Given the description of an element on the screen output the (x, y) to click on. 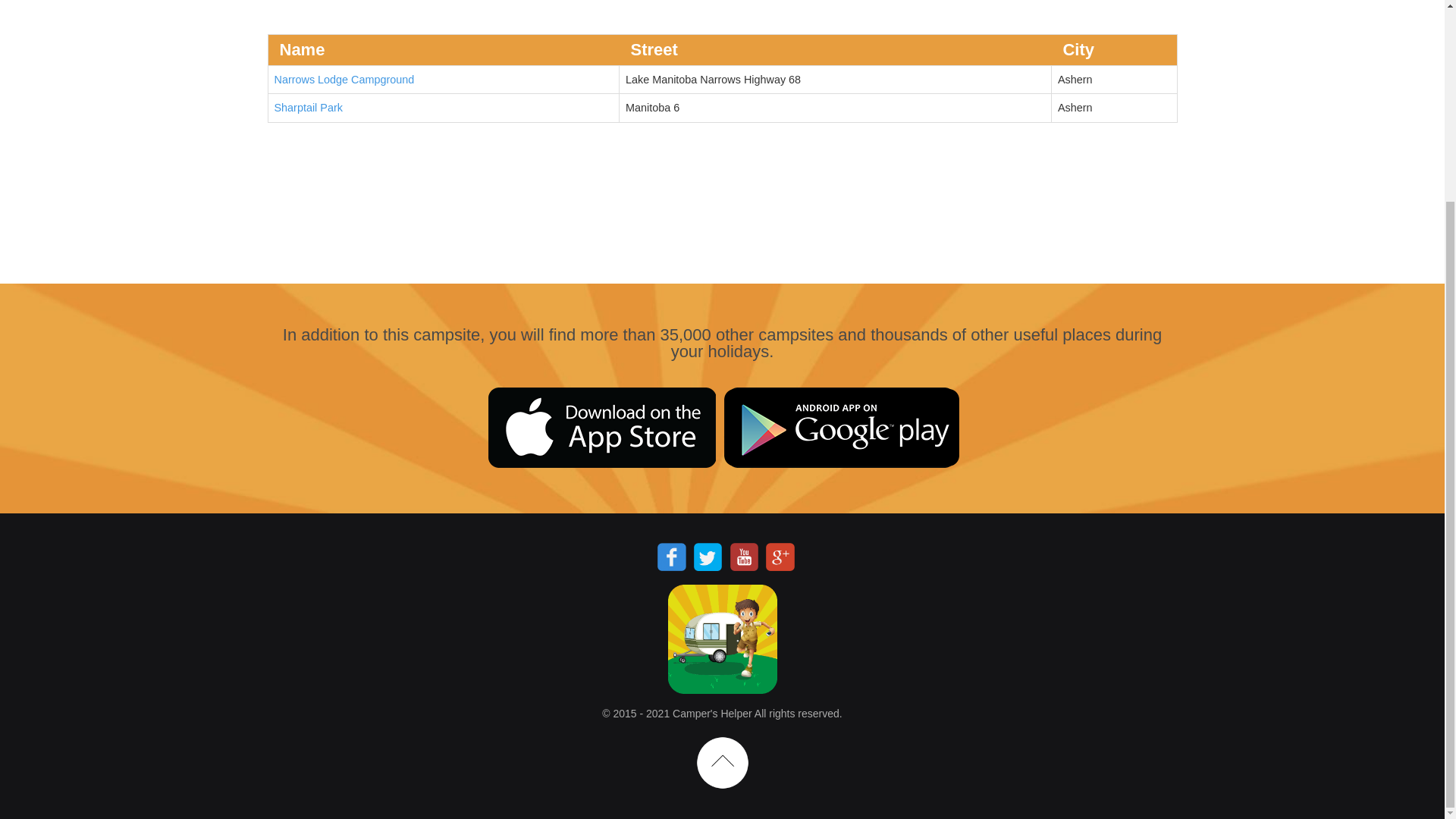
Narrows Lodge Campground (344, 79)
Sharptail Park (308, 107)
